Given the description of an element on the screen output the (x, y) to click on. 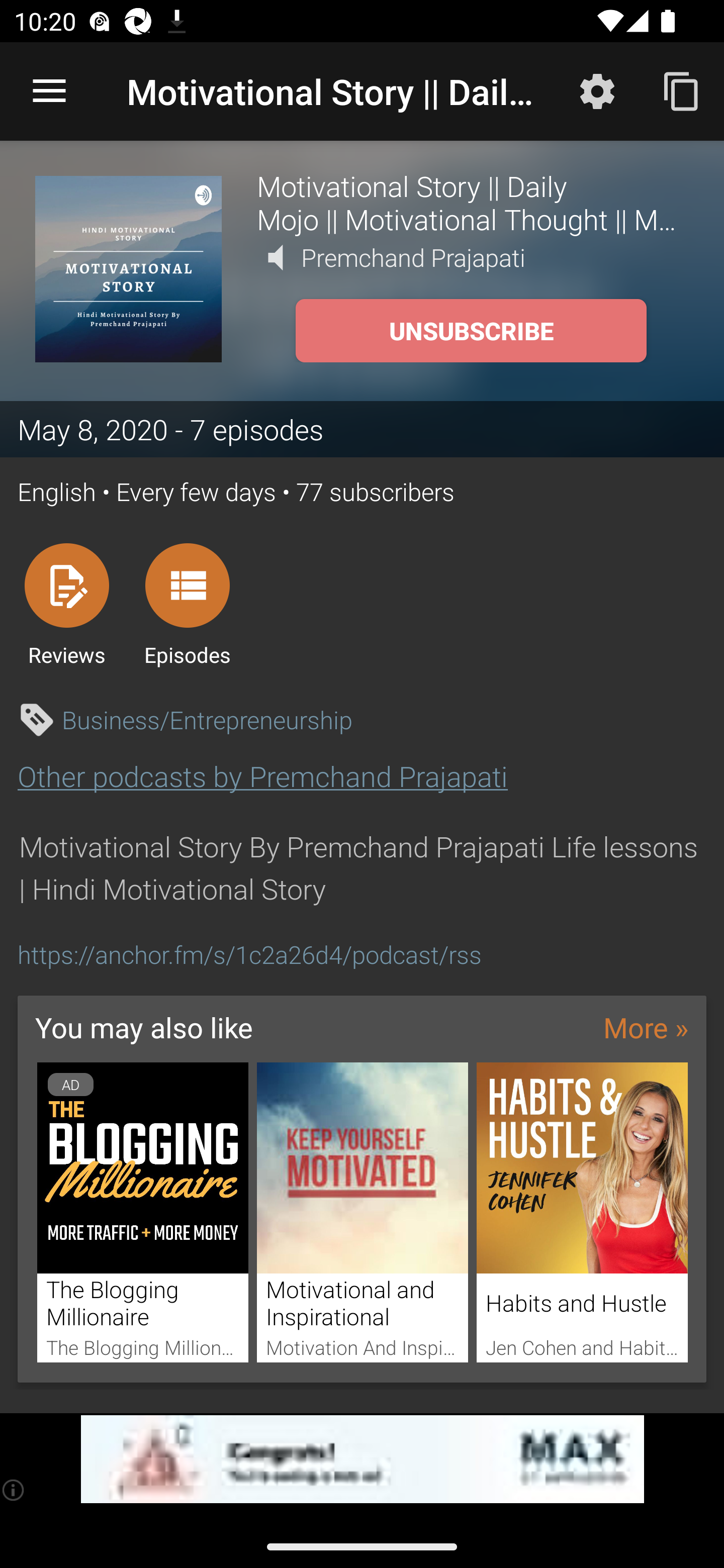
Open navigation sidebar (49, 91)
Settings (597, 90)
Copy feed url to clipboard (681, 90)
UNSUBSCRIBE (470, 330)
Reviews (66, 604)
Episodes (187, 604)
Other podcasts by Premchand Prajapati (262, 775)
More » (645, 1026)
Habits and Hustle Jen Cohen and Habit Nest (581, 1212)
app-monetization (362, 1459)
(i) (14, 1489)
